Given the description of an element on the screen output the (x, y) to click on. 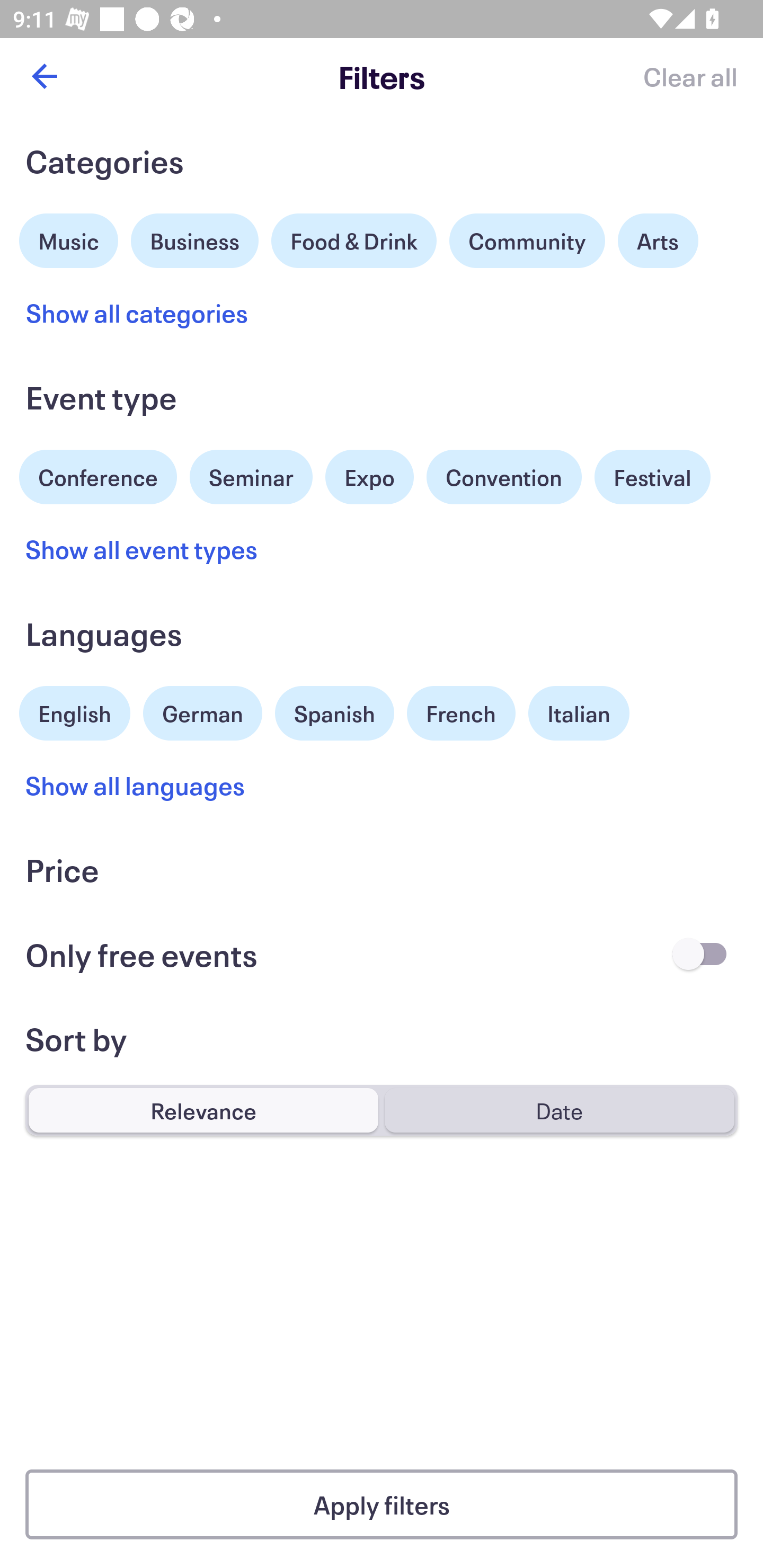
Back button (44, 75)
Clear all (690, 75)
Music (68, 238)
Business (194, 238)
Food & Drink (353, 240)
Community (527, 240)
Arts (658, 240)
Show all categories (136, 312)
Conference (98, 475)
Seminar (250, 477)
Expo (369, 477)
Convention (503, 477)
Festival (652, 477)
Show all event types (141, 548)
English (74, 710)
German (202, 710)
Spanish (334, 713)
French (460, 713)
Italian (578, 713)
Show all languages (135, 784)
Relevance (203, 1109)
Date (559, 1109)
Apply filters (381, 1504)
